Given the description of an element on the screen output the (x, y) to click on. 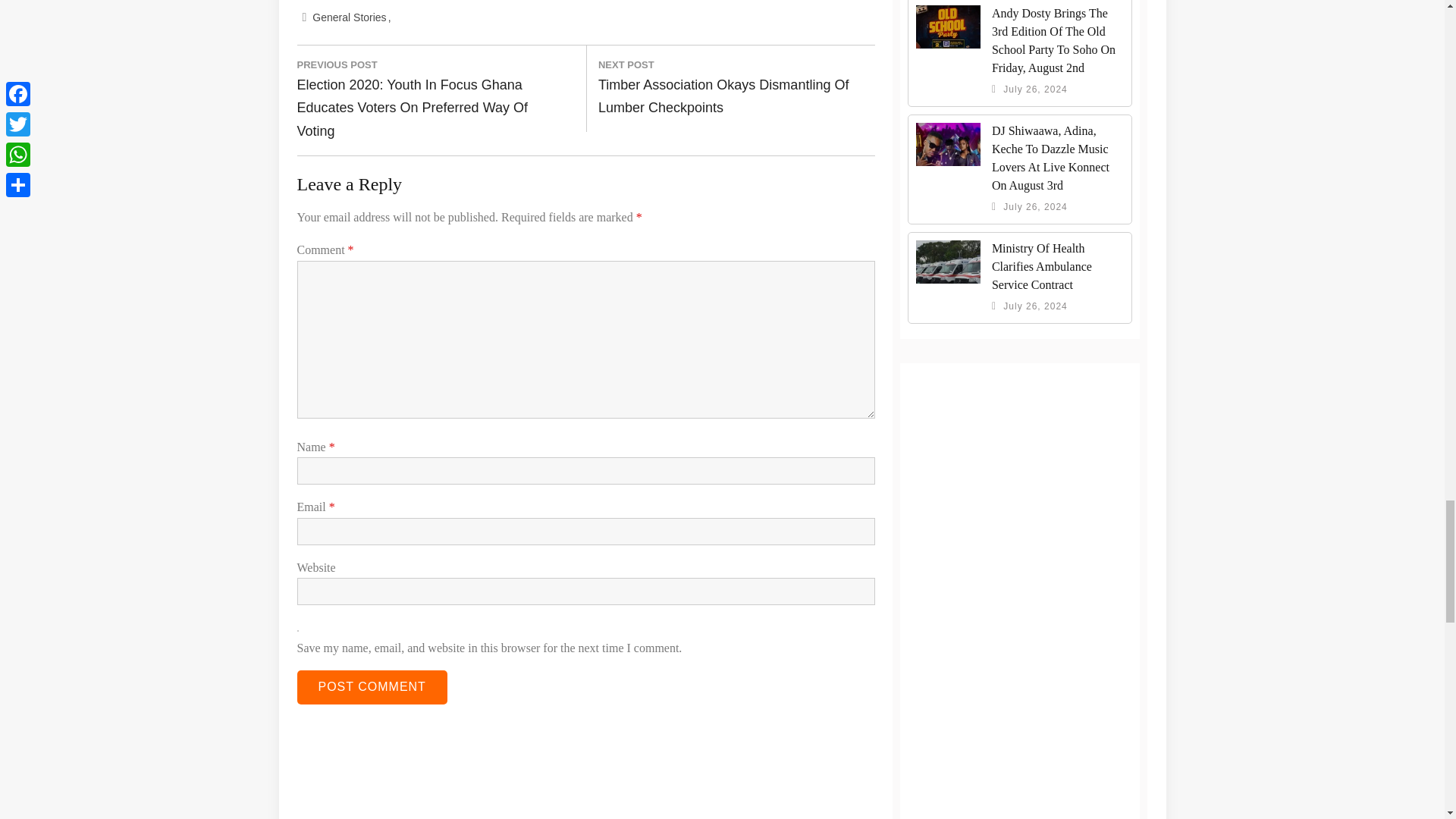
Post Comment (371, 687)
